Given the description of an element on the screen output the (x, y) to click on. 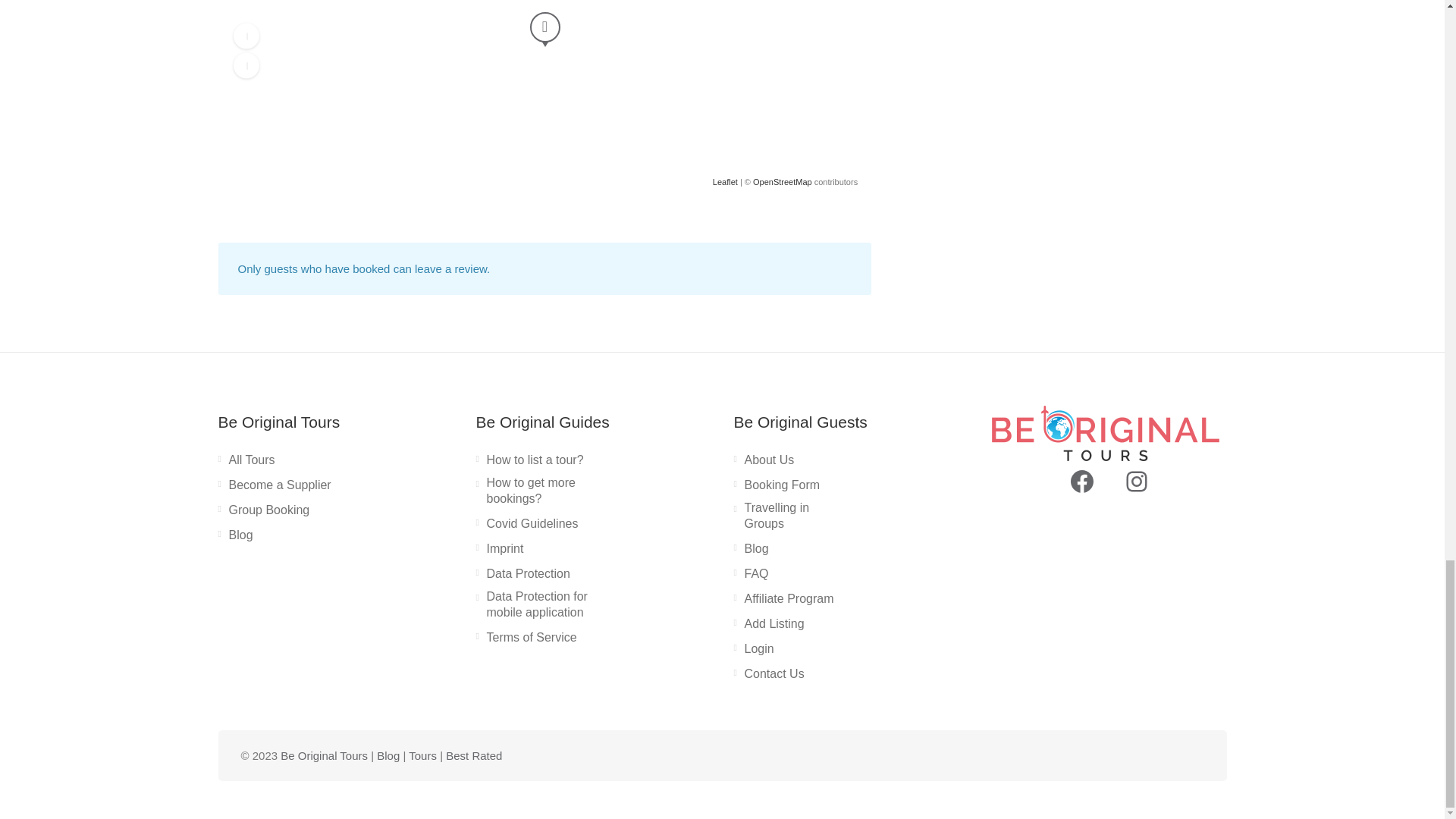
Zoom out (245, 64)
A JS library for interactive maps (725, 181)
Zoom in (245, 35)
